Given the description of an element on the screen output the (x, y) to click on. 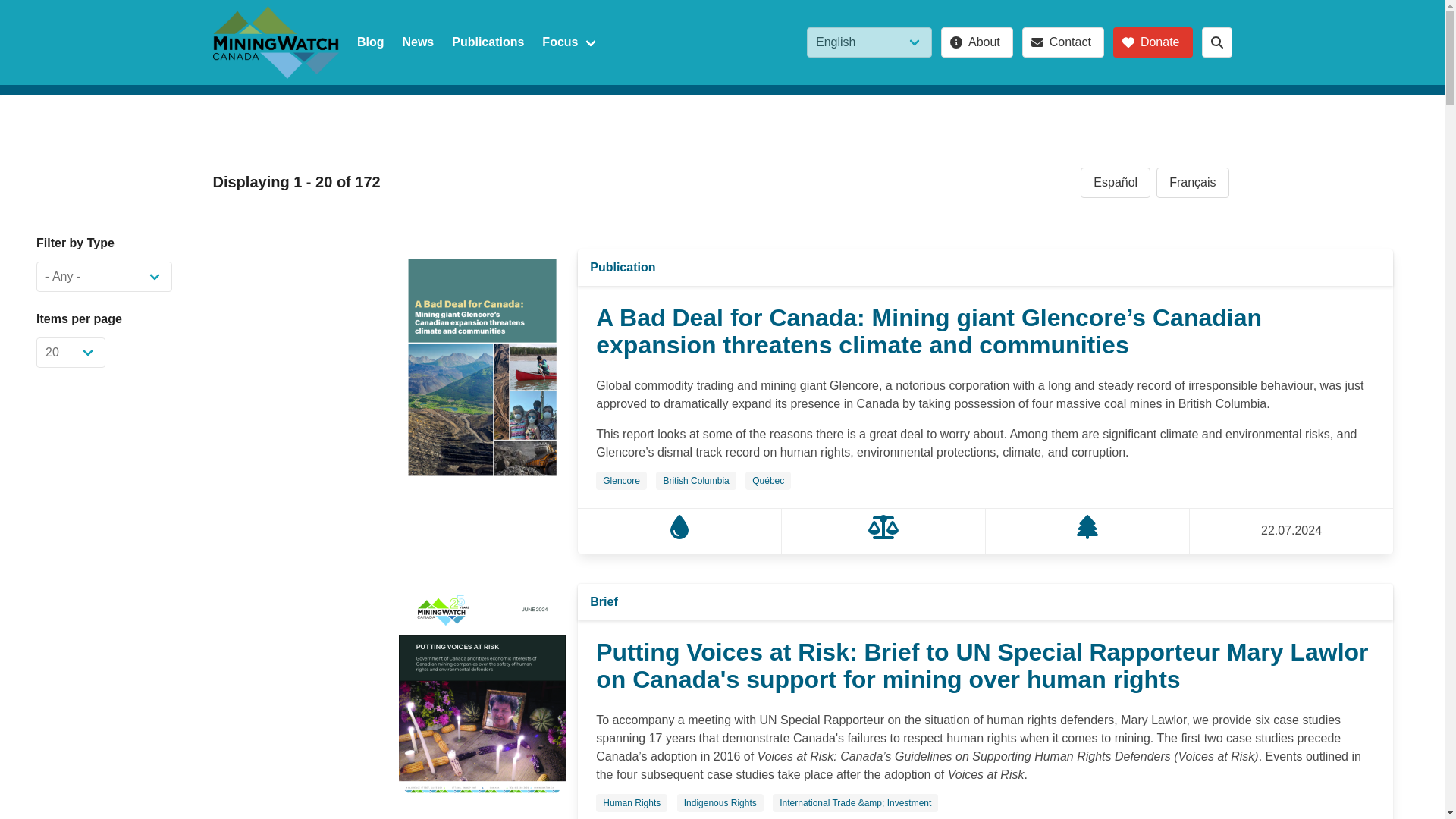
Indigenous Rights (720, 802)
Publications (487, 42)
British Columbia (695, 480)
MiningWatch (275, 42)
Put People and Ecosystems First (1087, 534)
Donate (1152, 42)
About (976, 42)
Fix Mining Laws (883, 534)
Brief (603, 601)
Protect Water (678, 534)
Contact (1062, 42)
Human Rights (631, 802)
search (1216, 42)
Glencore (621, 480)
